Given the description of an element on the screen output the (x, y) to click on. 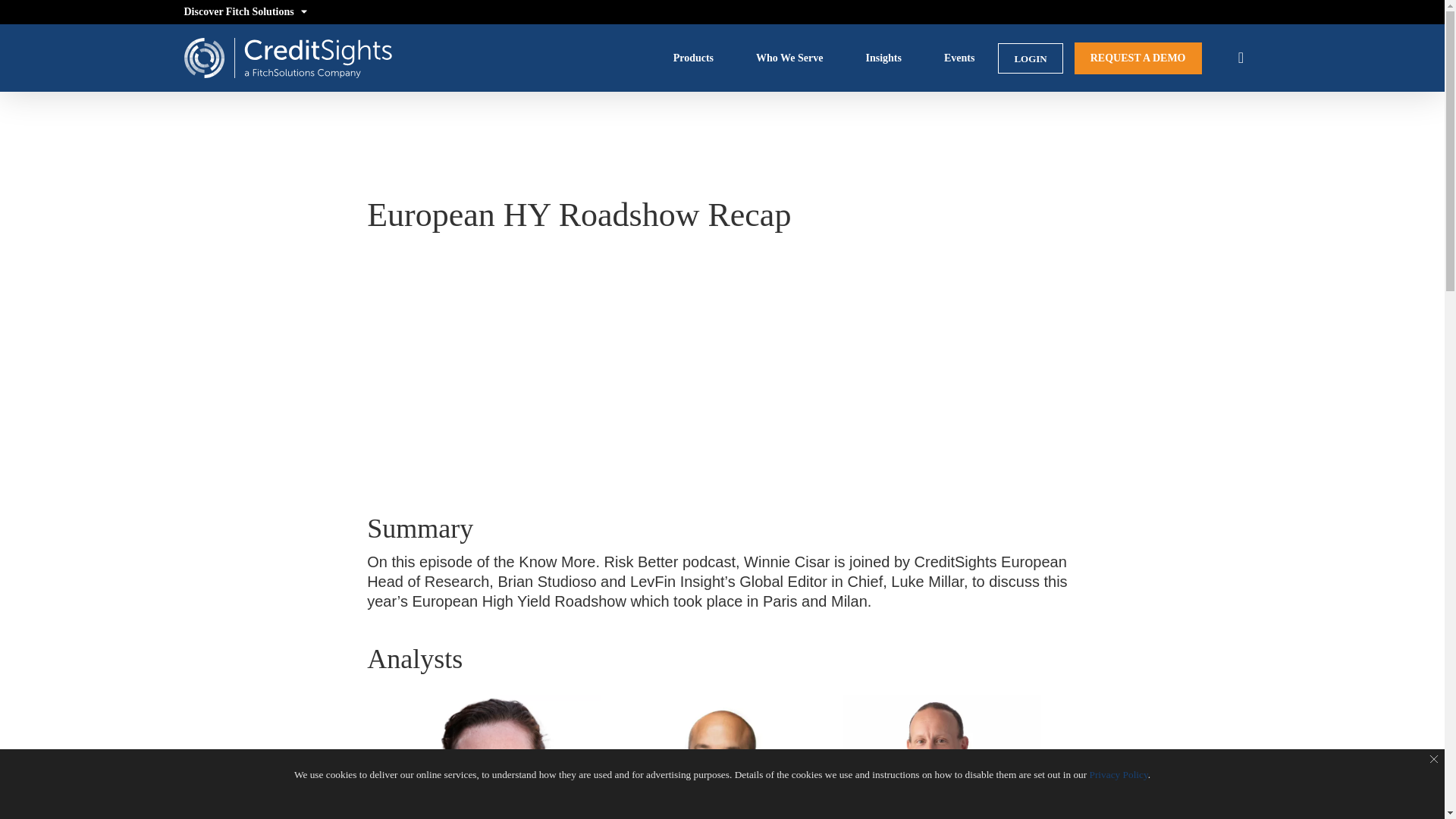
Products (694, 57)
